Given the description of an element on the screen output the (x, y) to click on. 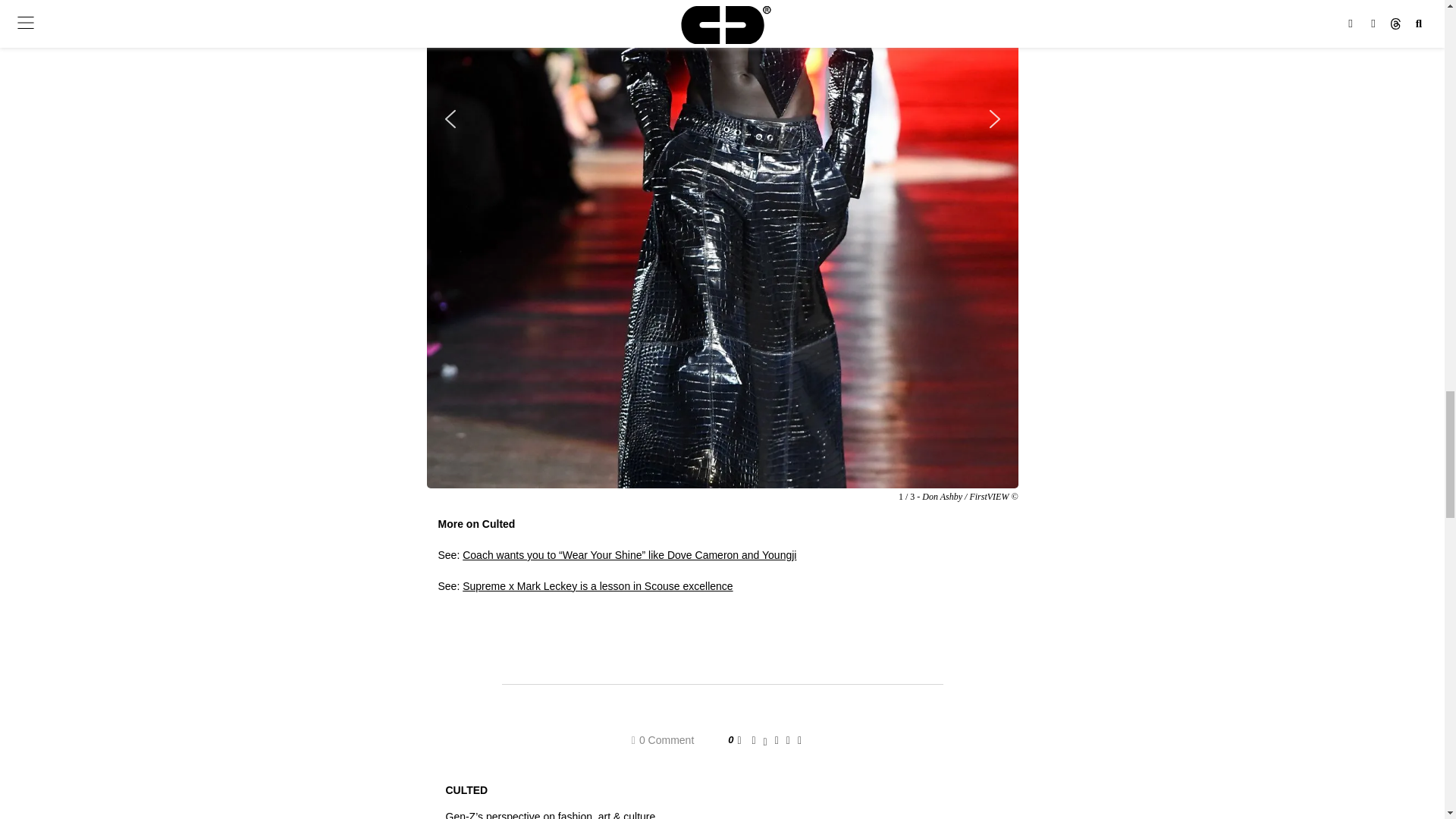
Author CULTED (466, 789)
Supreme x Mark Leckey is a lesson in Scouse excellence (597, 585)
CULTED (466, 789)
